Given the description of an element on the screen output the (x, y) to click on. 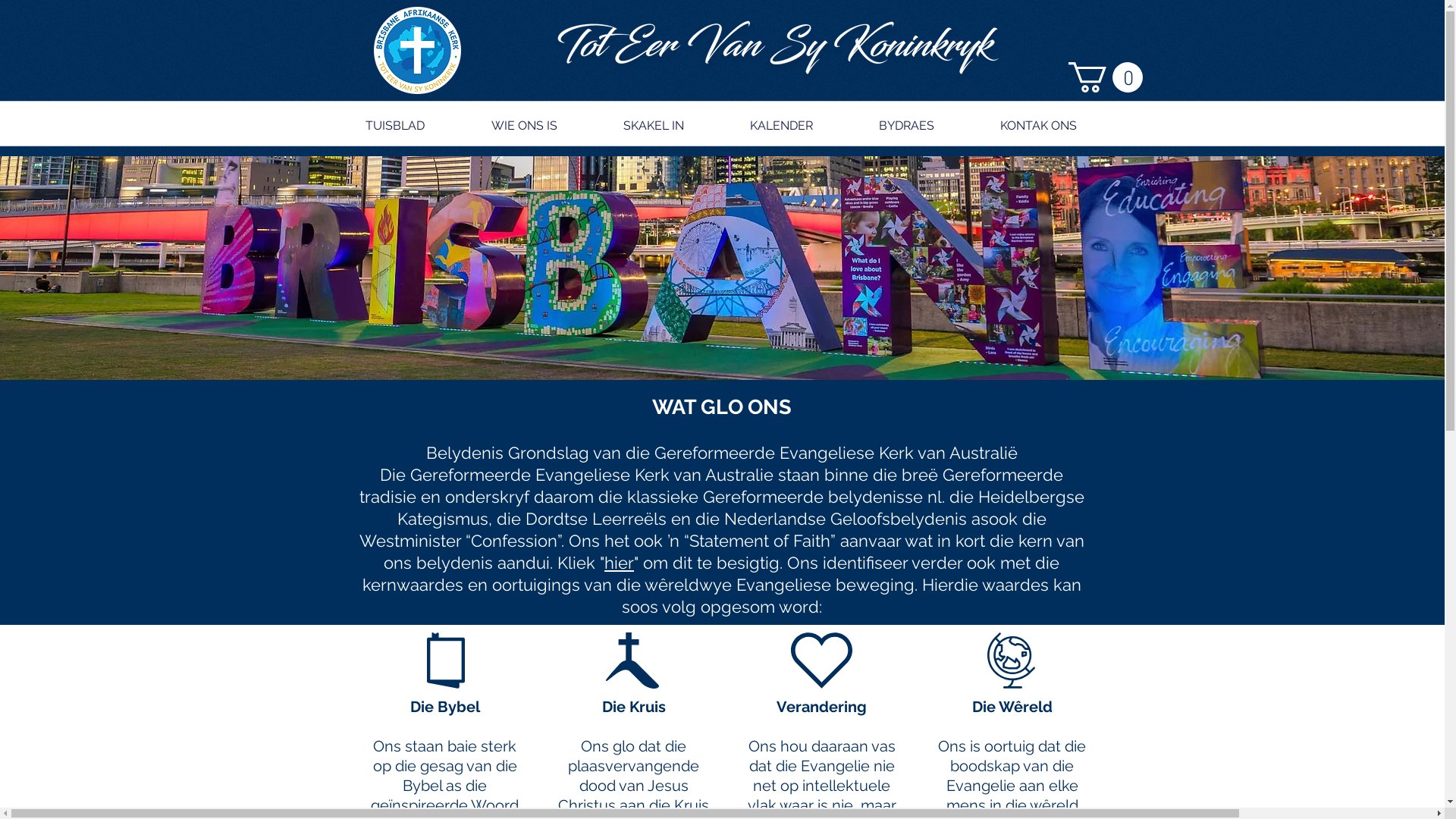
KALENDER Element type: text (781, 118)
TUISBLAD Element type: text (395, 118)
0 Element type: text (1104, 77)
BYDRAES Element type: text (906, 118)
KONTAK ONS Element type: text (1038, 118)
hier Element type: text (618, 562)
